Given the description of an element on the screen output the (x, y) to click on. 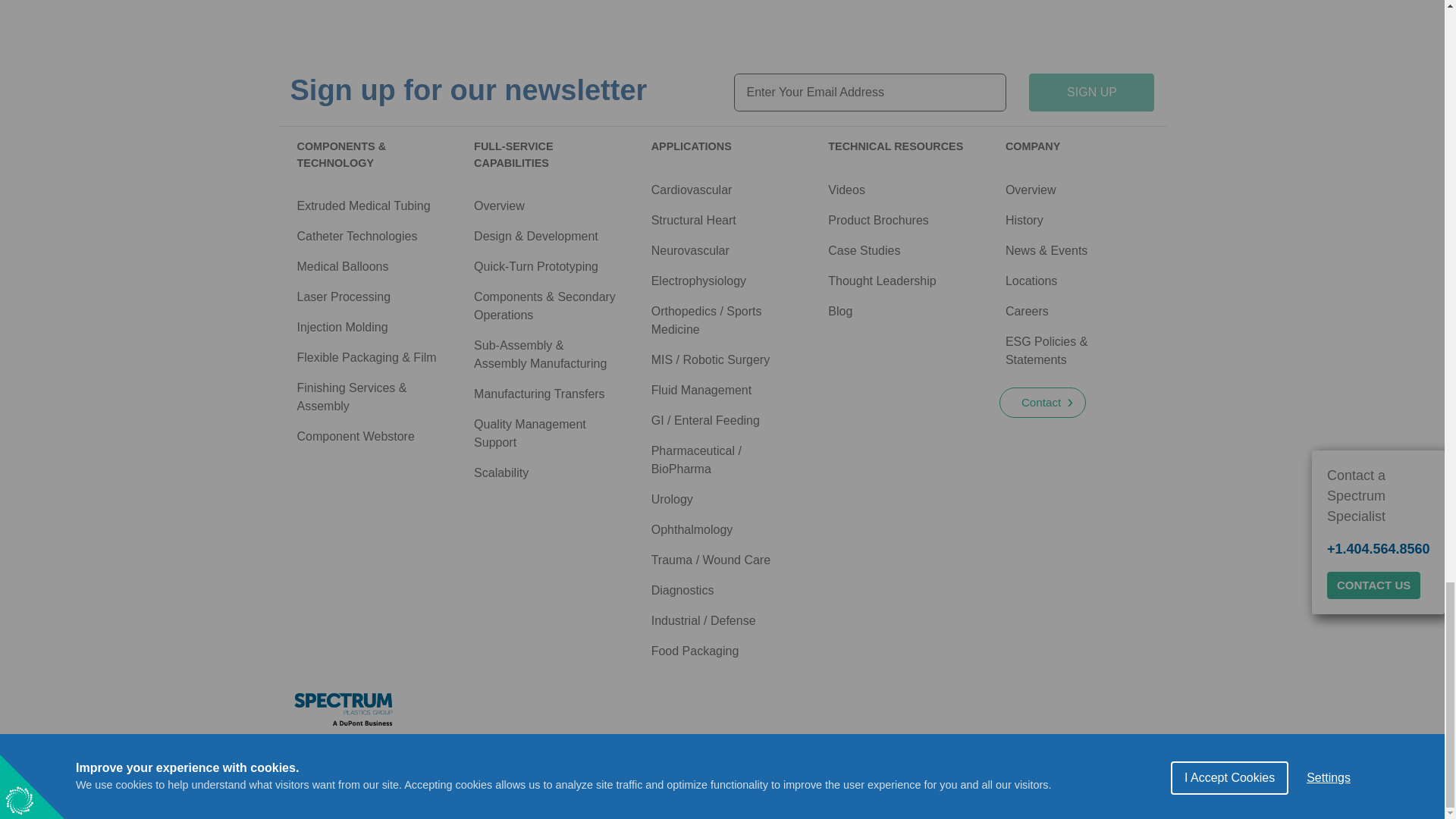
Submit Newsletter Signup (1091, 92)
